Given the description of an element on the screen output the (x, y) to click on. 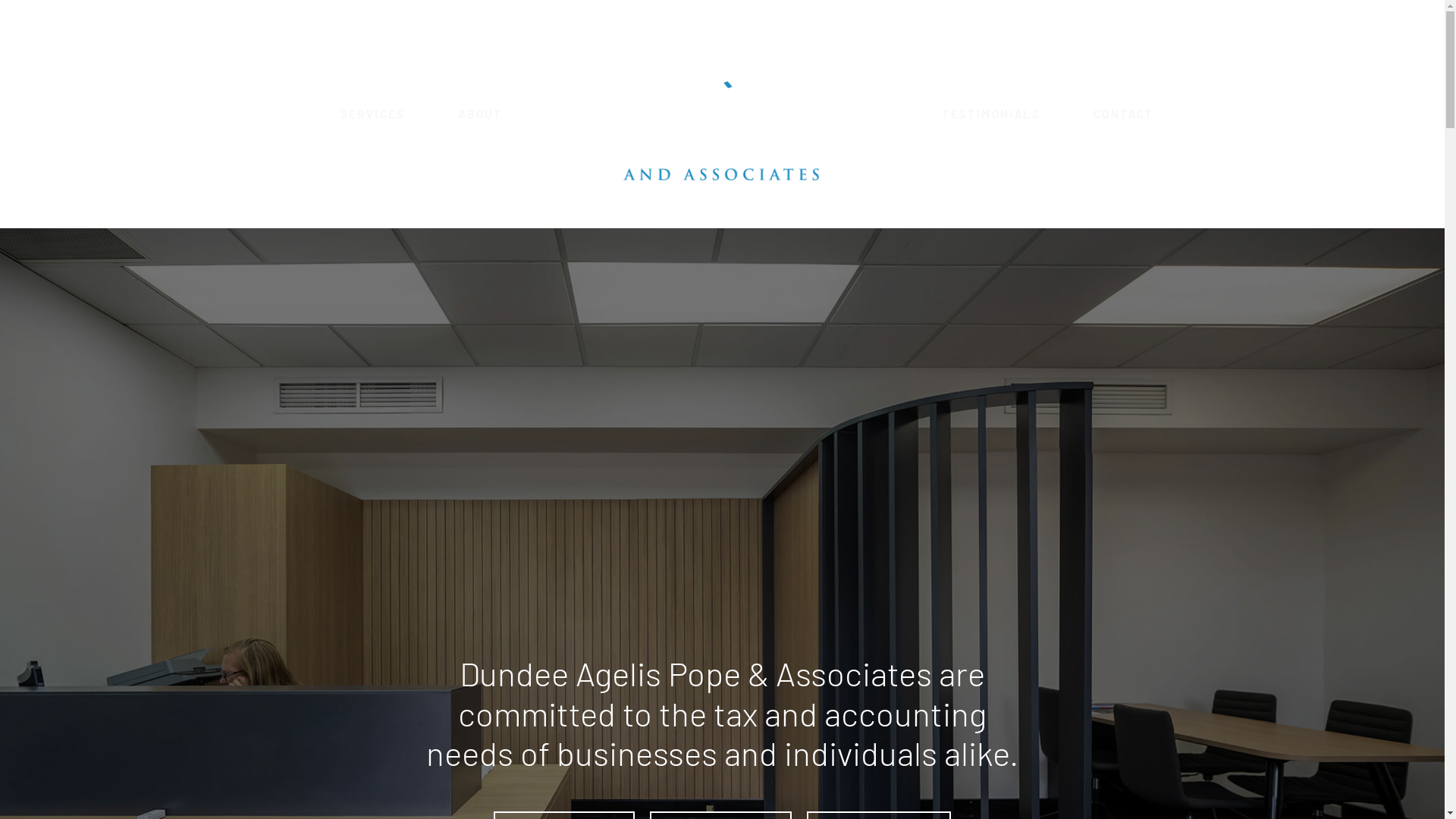
SERVICES Element type: text (372, 114)
CONTACT Element type: text (1123, 114)
ABOUT Element type: text (480, 114)
TESTIMONIALS Element type: text (990, 114)
